Given the description of an element on the screen output the (x, y) to click on. 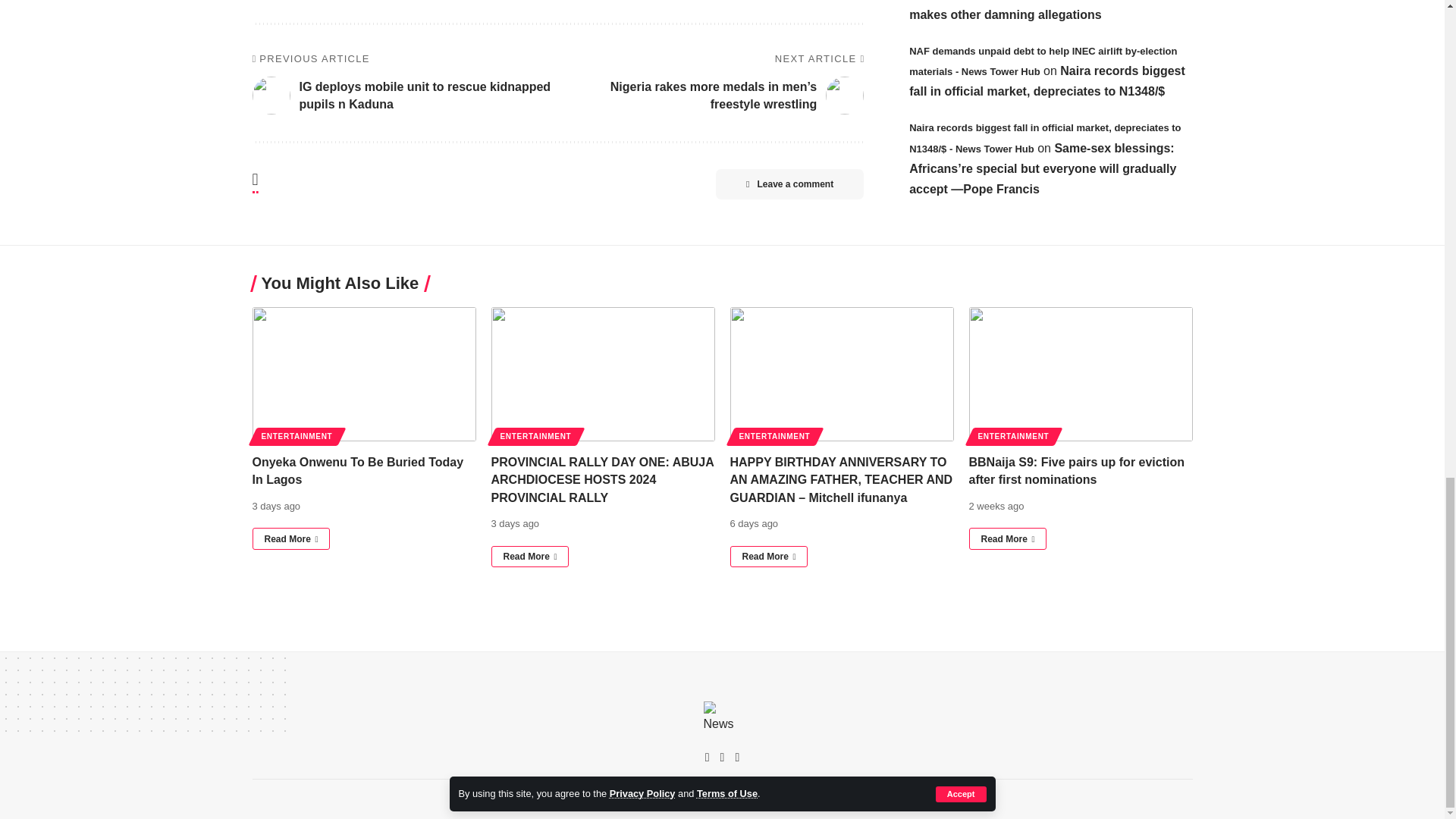
Onyeka Onwenu To Be Buried Today In Lagos (363, 374)
News Tower Hub (722, 720)
